Given the description of an element on the screen output the (x, y) to click on. 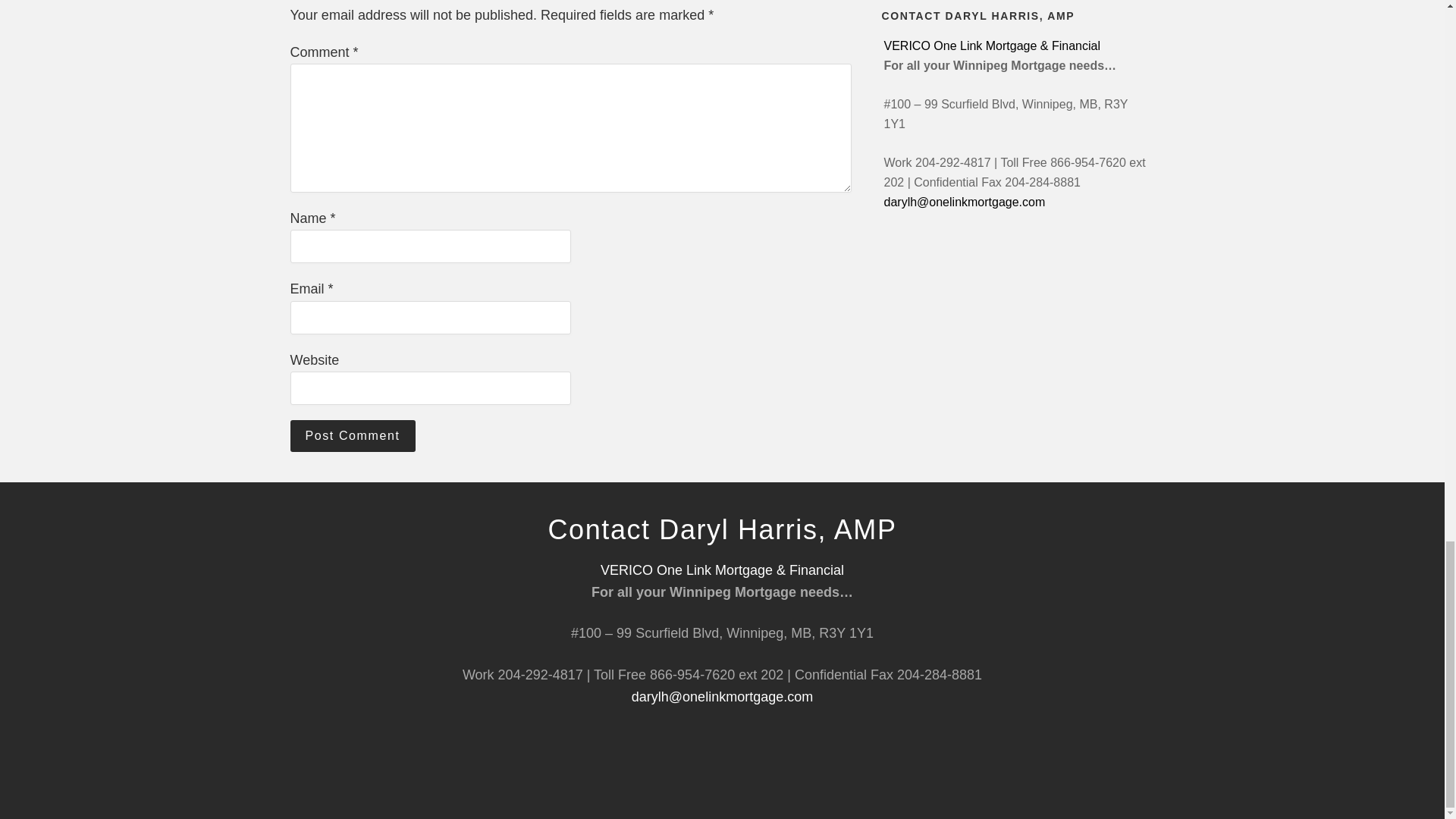
Post Comment (351, 436)
Post Comment (351, 436)
